Given the description of an element on the screen output the (x, y) to click on. 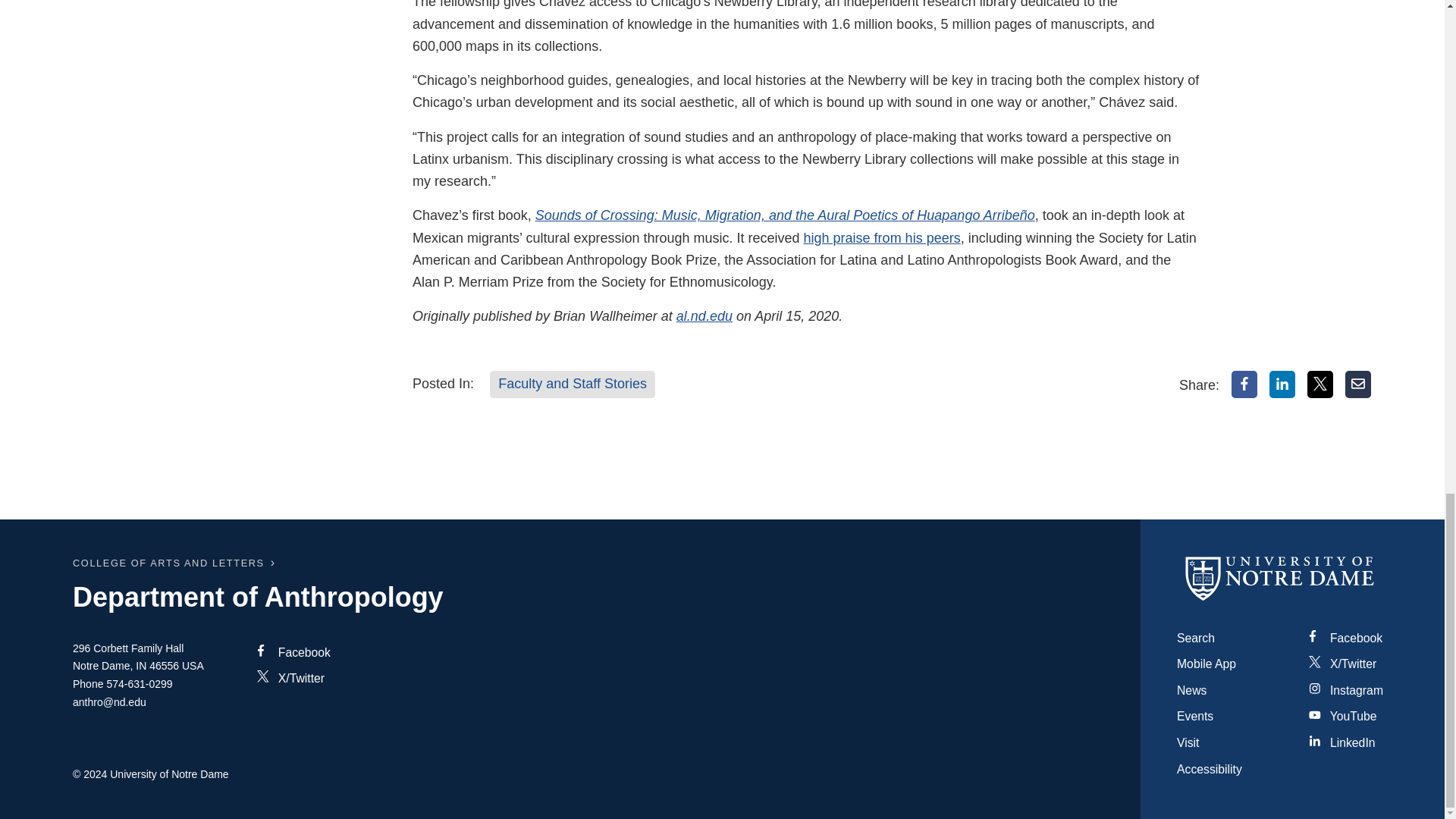
LinkedIn (1282, 384)
Email (1358, 384)
Facebook (1244, 384)
